Given the description of an element on the screen output the (x, y) to click on. 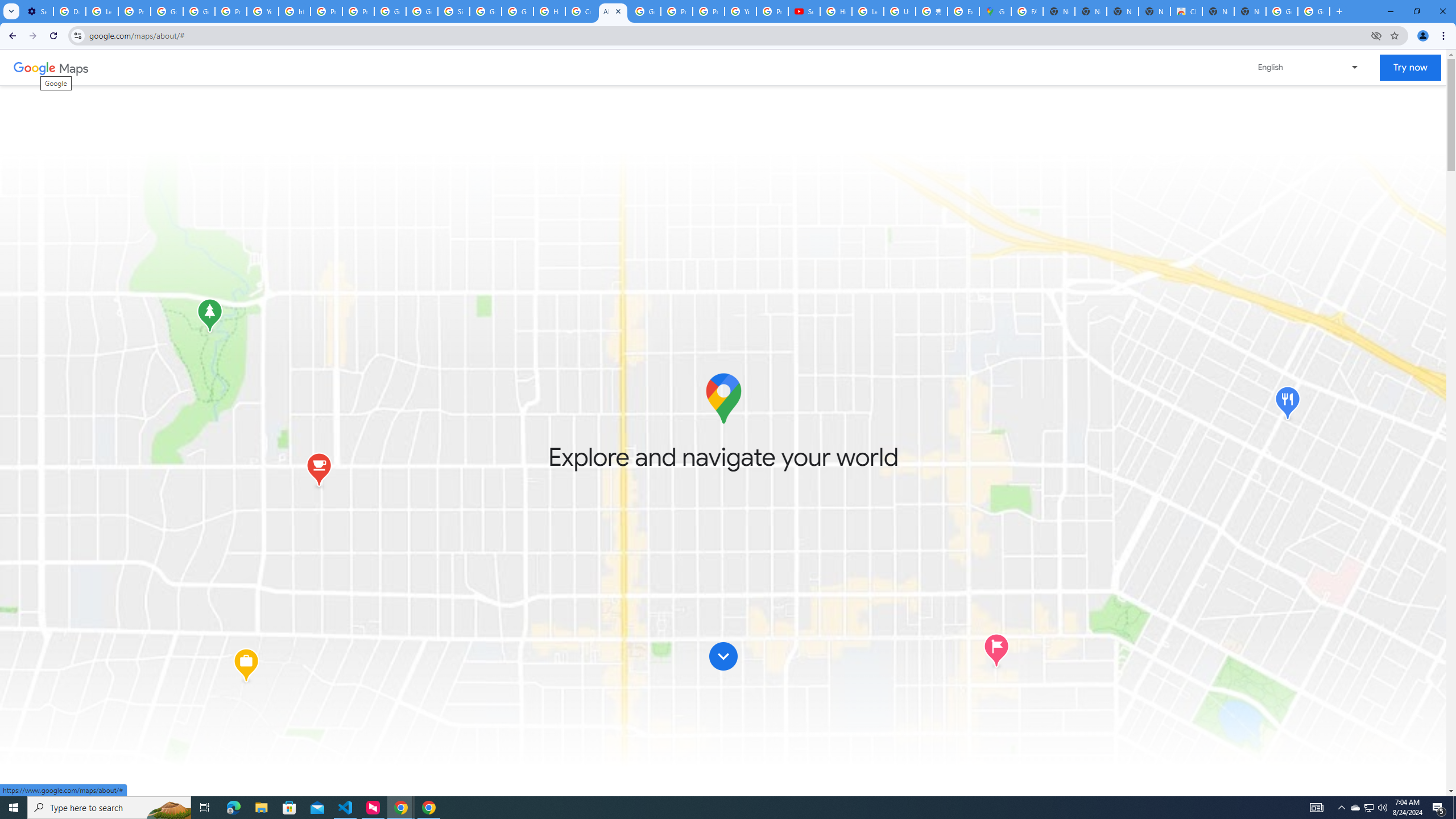
New Tab (1338, 11)
Learn how to find your photos - Google Photos Help (101, 11)
Chrome Web Store (1185, 11)
System (6, 6)
Minimize (1390, 11)
Skip to Content (723, 660)
Chrome (1445, 35)
Change language or region (1308, 66)
Close (618, 11)
Reload (52, 35)
